Given the description of an element on the screen output the (x, y) to click on. 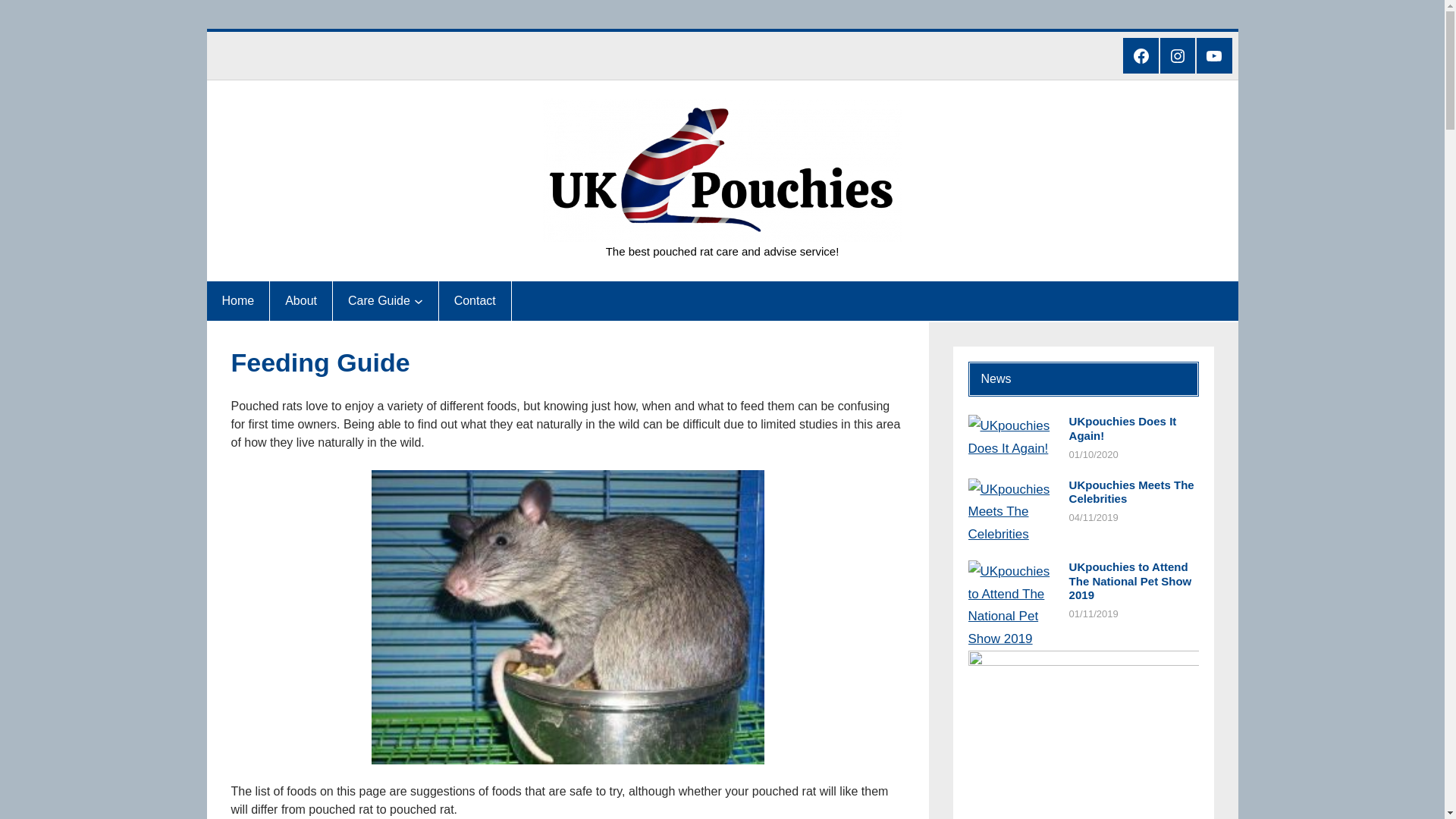
Instagram (1177, 54)
Contact (475, 301)
Home (237, 301)
UKpouchies to Attend The National Pet Show 2019 (1133, 581)
About (301, 301)
UKpouchies Does It Again! (1133, 428)
UKpouchies Meets The Celebrities (1133, 492)
Facebook (1139, 54)
YouTube (1213, 54)
Care Guide (379, 301)
